Given the description of an element on the screen output the (x, y) to click on. 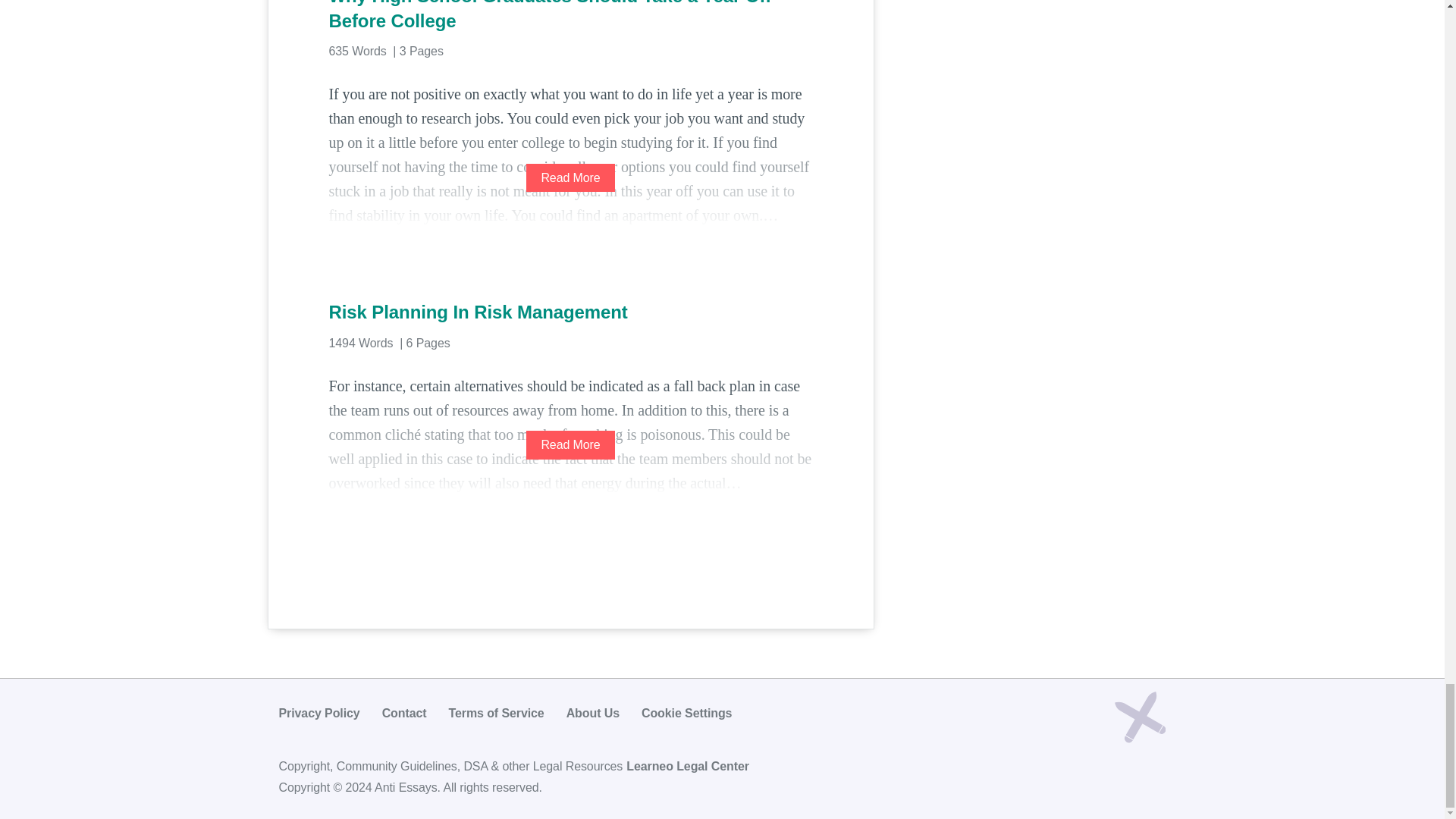
Risk Planning In Risk Management (570, 312)
Privacy Policy (319, 712)
Contact (403, 712)
Read More (569, 177)
Read More (569, 444)
